Given the description of an element on the screen output the (x, y) to click on. 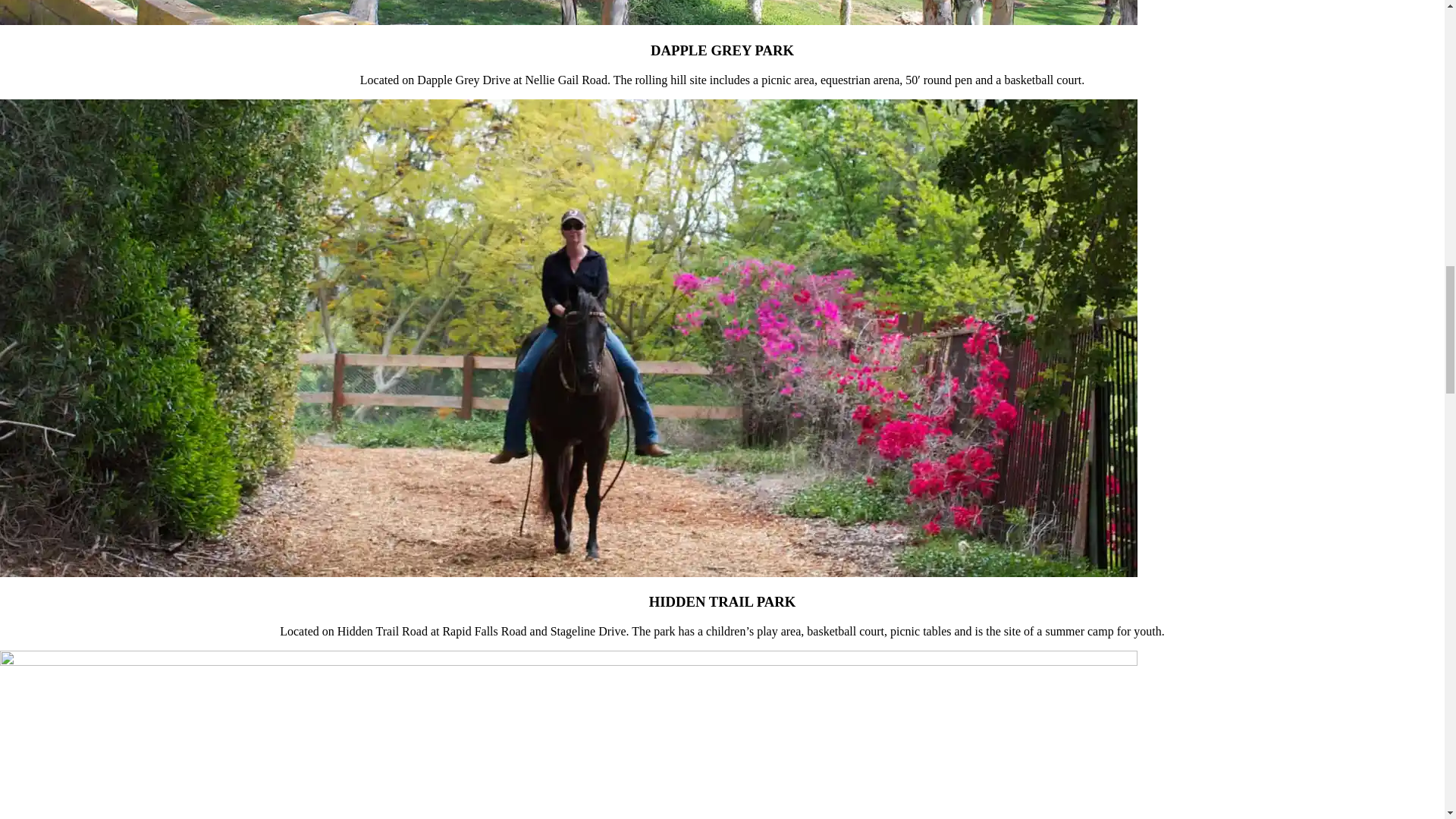
Dapple Grey (568, 12)
Menu Menu (60, 3)
